Given the description of an element on the screen output the (x, y) to click on. 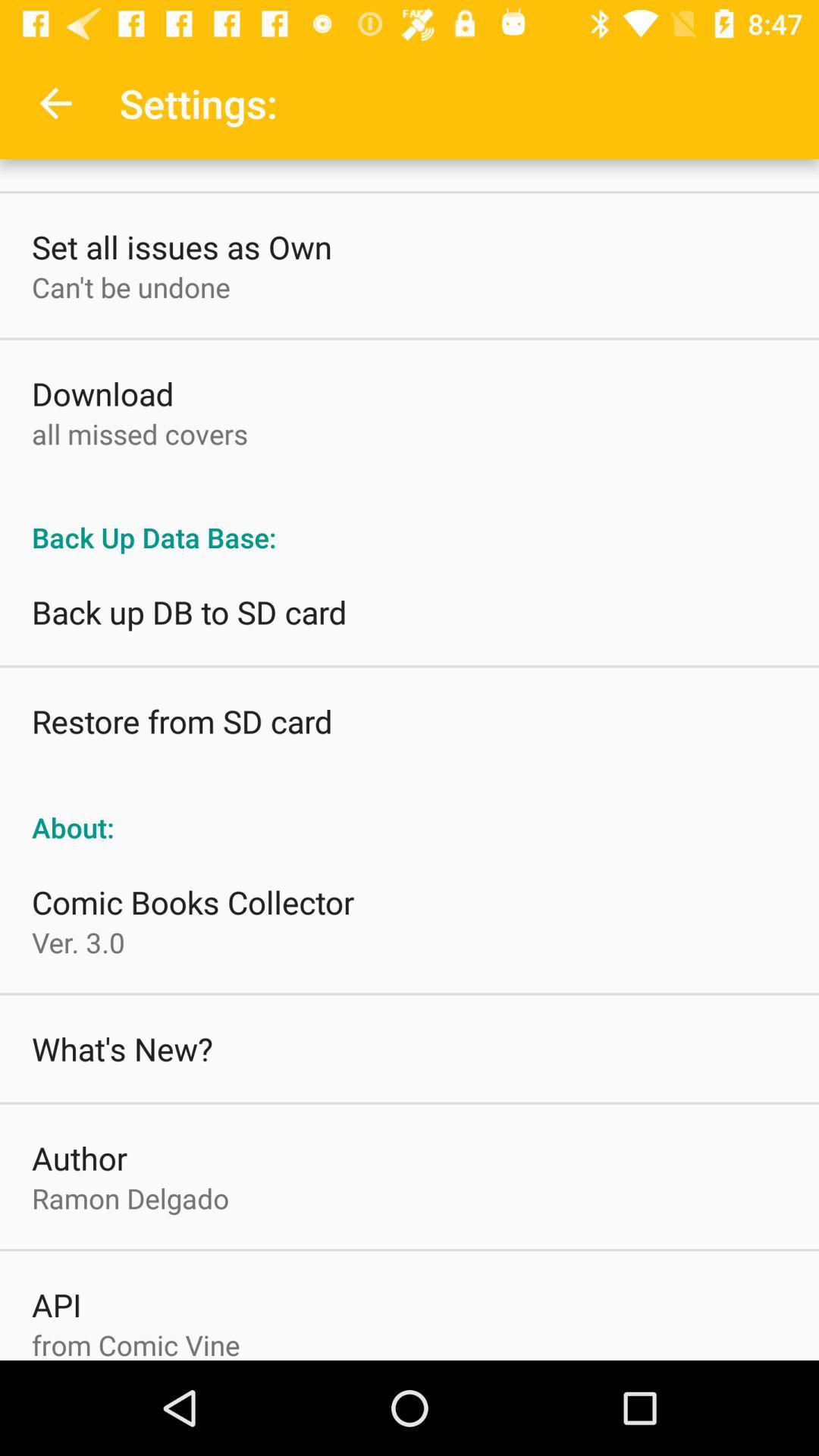
swipe until the download item (102, 393)
